Given the description of an element on the screen output the (x, y) to click on. 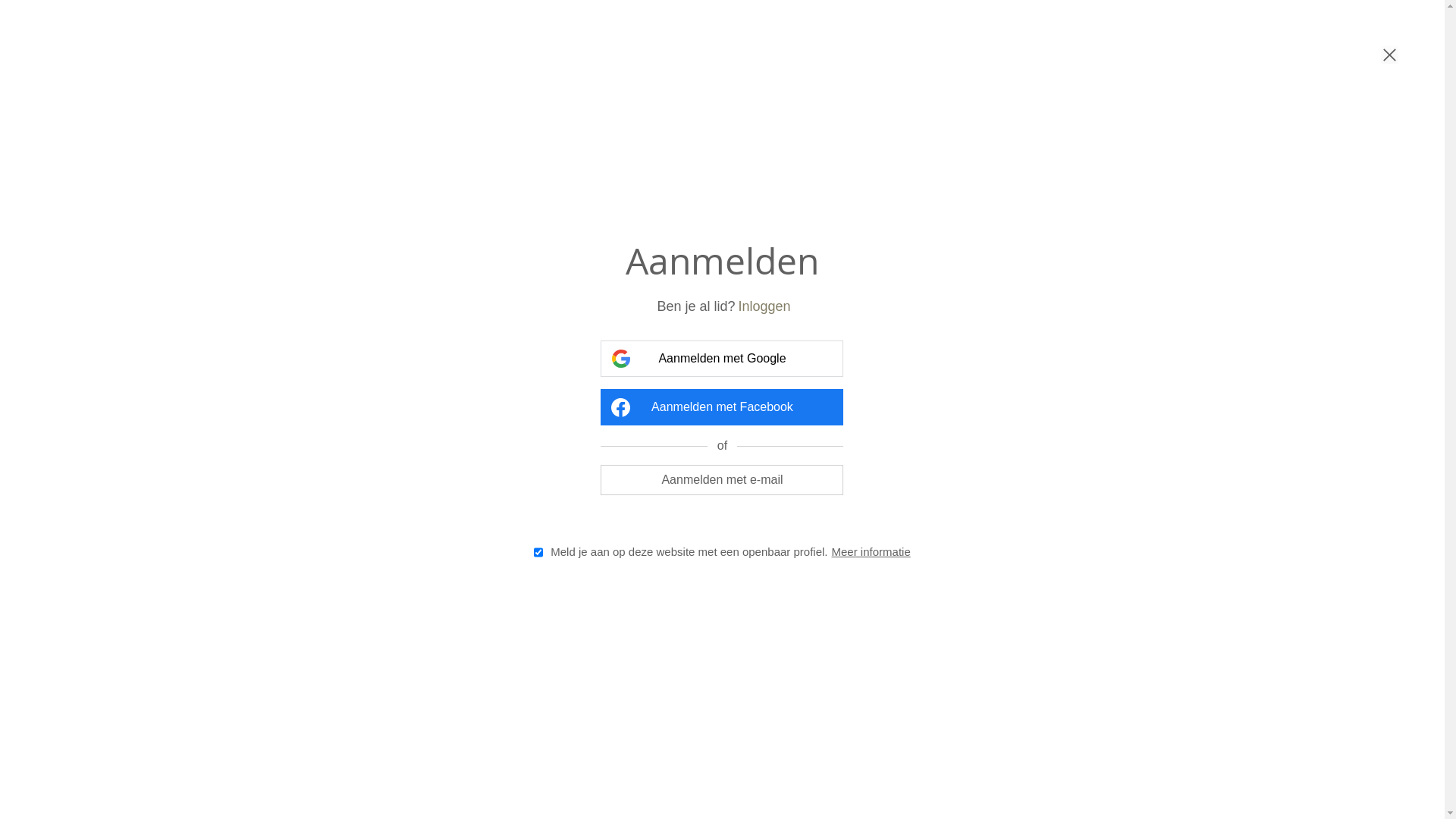
Aanmelden met Facebook Element type: text (721, 407)
Meer informatie Element type: text (870, 551)
Aanmelden met e-mail Element type: text (721, 479)
Inloggen Element type: text (763, 306)
Aanmelden met Google Element type: text (721, 358)
